Given the description of an element on the screen output the (x, y) to click on. 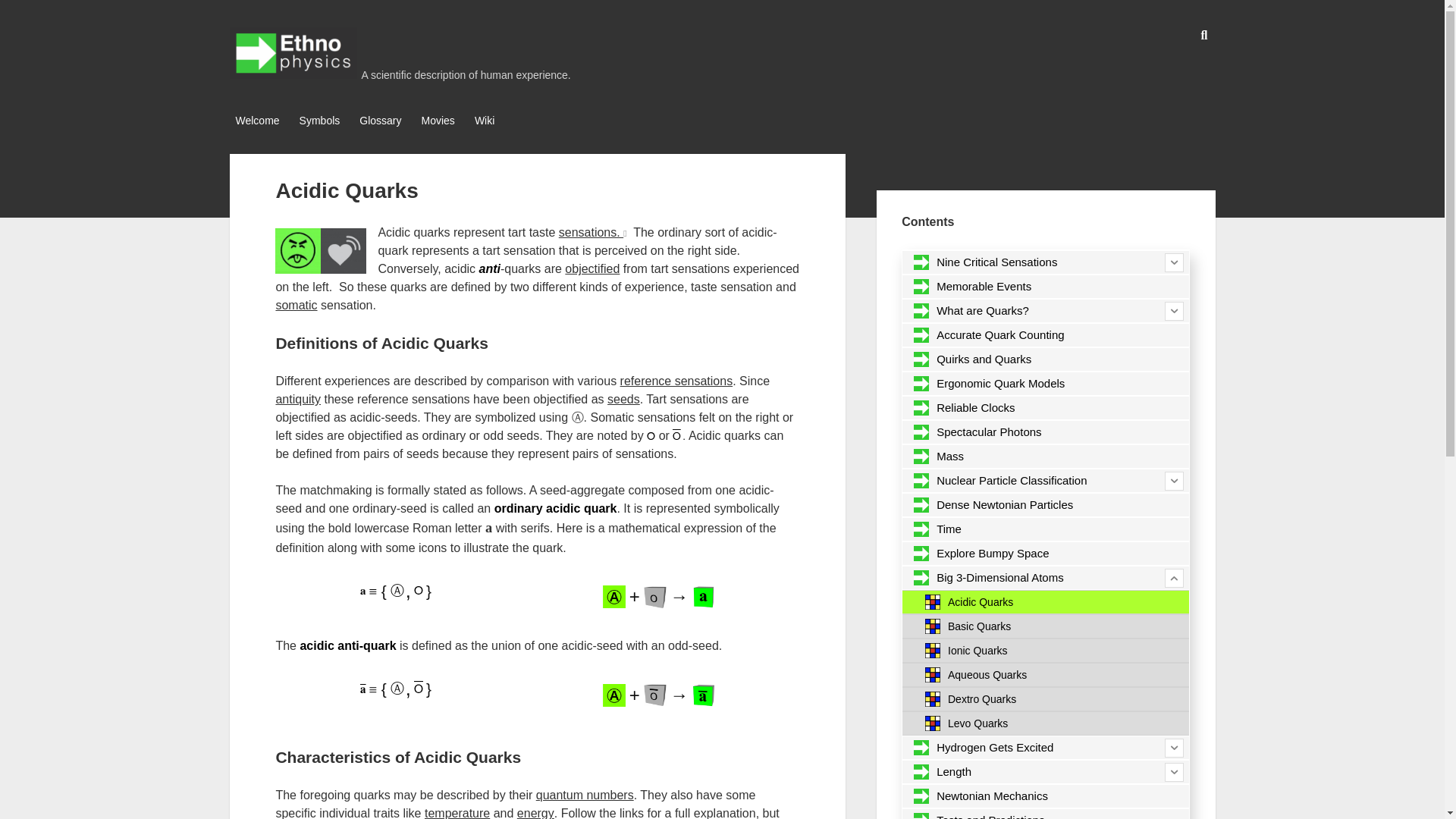
reference sensations (676, 380)
quantum numbers (584, 794)
Welcome (256, 121)
temperature (457, 812)
EthnoPhysics (292, 72)
antiquity (297, 399)
Glossary (380, 121)
somatic (296, 305)
Rendered by QuickLaTeX.com (368, 591)
objectified (592, 268)
